Given the description of an element on the screen output the (x, y) to click on. 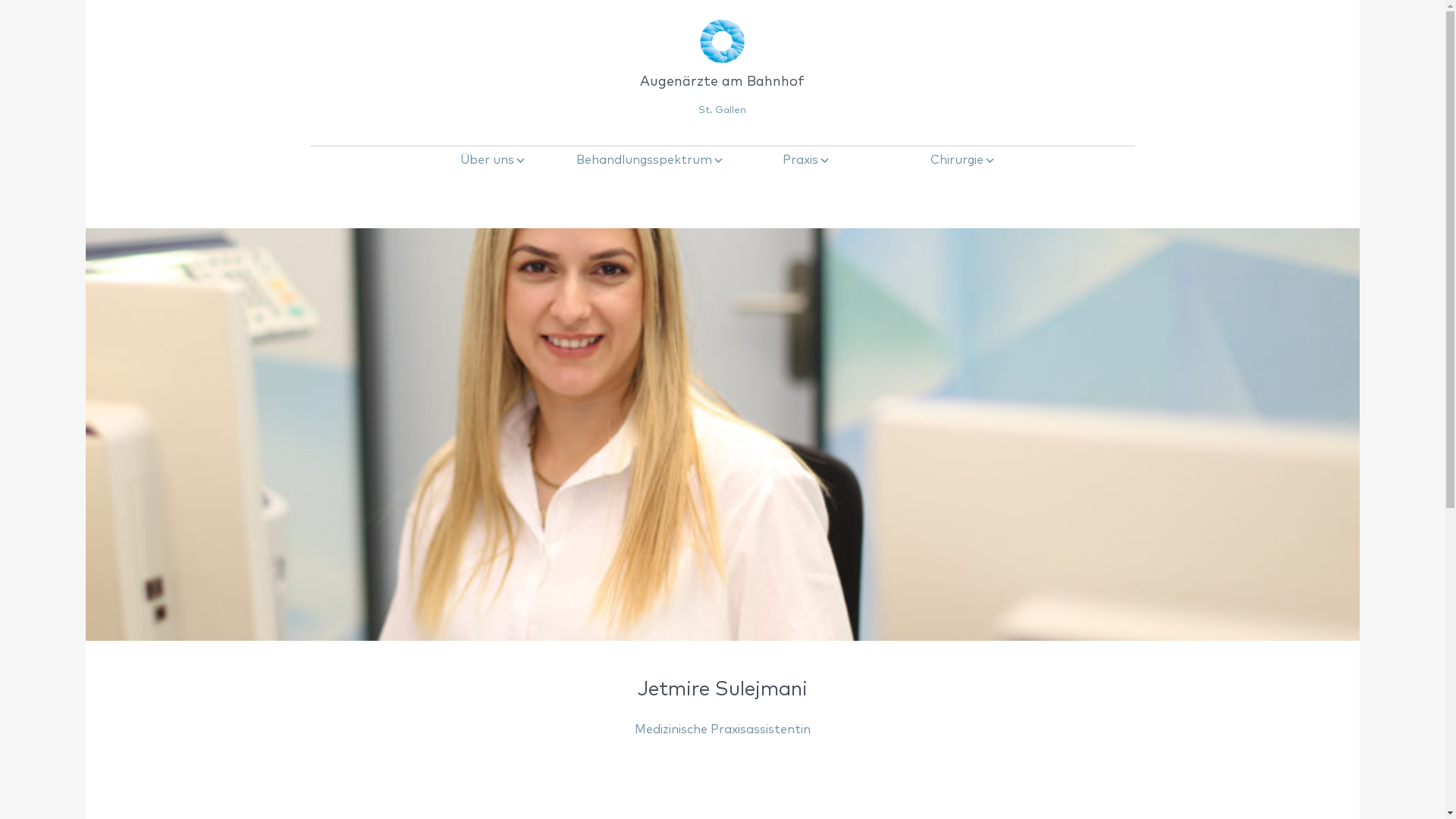
Behandlungsspektrum Element type: text (643, 159)
Praxis Element type: text (799, 159)
Chirurgie Element type: text (956, 159)
